Given the description of an element on the screen output the (x, y) to click on. 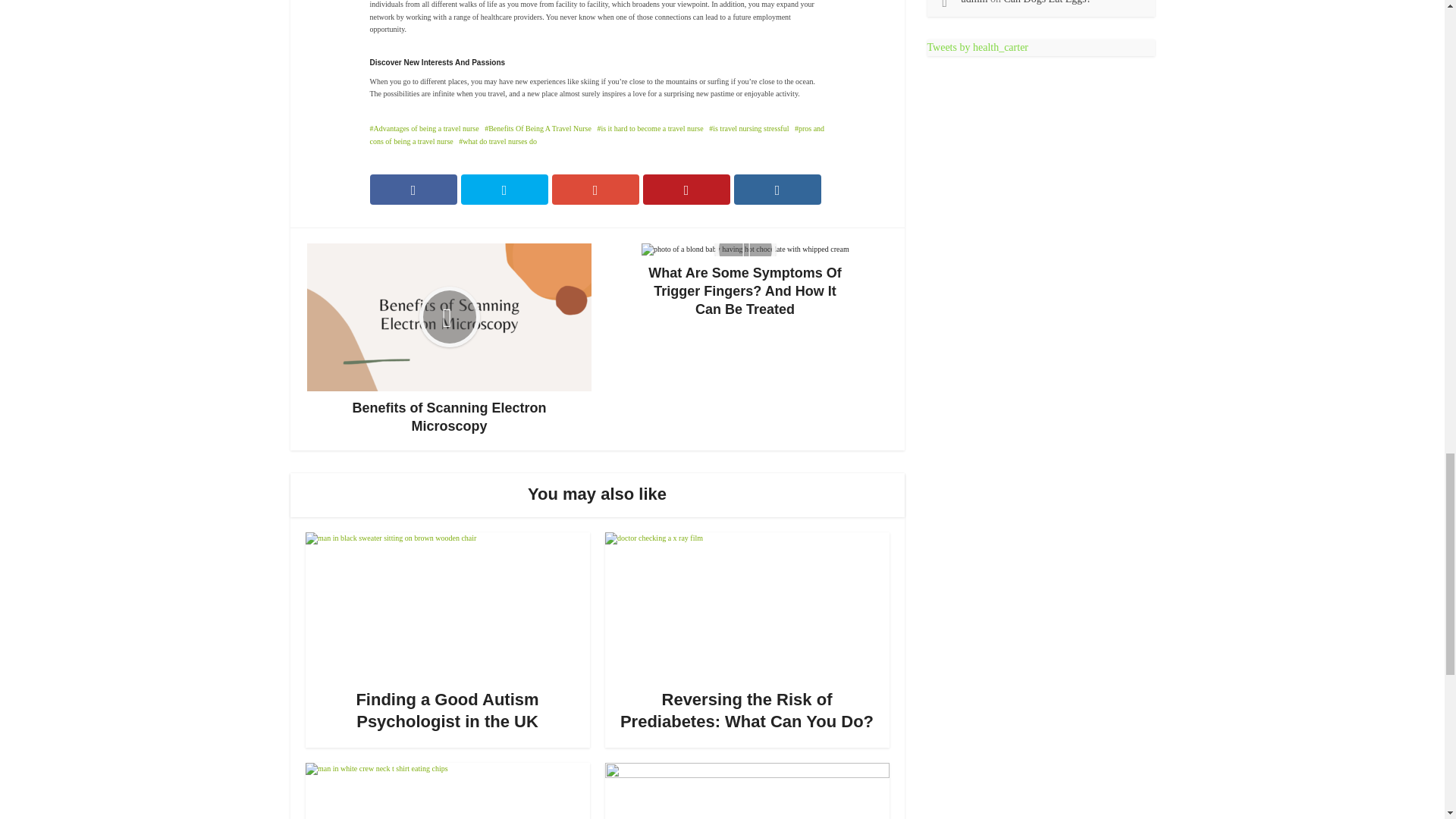
Finding a Good Autism Psychologist in the UK (446, 710)
Reversing the Risk of Prediabetes: What Can You Do? (746, 710)
what do travel nurses do (497, 141)
Benefits of Scanning Electron Microscopy (449, 338)
Finding a Good Autism Psychologist in the UK (446, 710)
pros and cons of being a travel nurse (597, 134)
is travel nursing stressful (749, 128)
Advantages of being a travel nurse (424, 128)
Benefits Of Being A Travel Nurse (537, 128)
is it hard to become a travel nurse (649, 128)
Reversing the Risk of Prediabetes: What Can You Do? (746, 710)
